Given the description of an element on the screen output the (x, y) to click on. 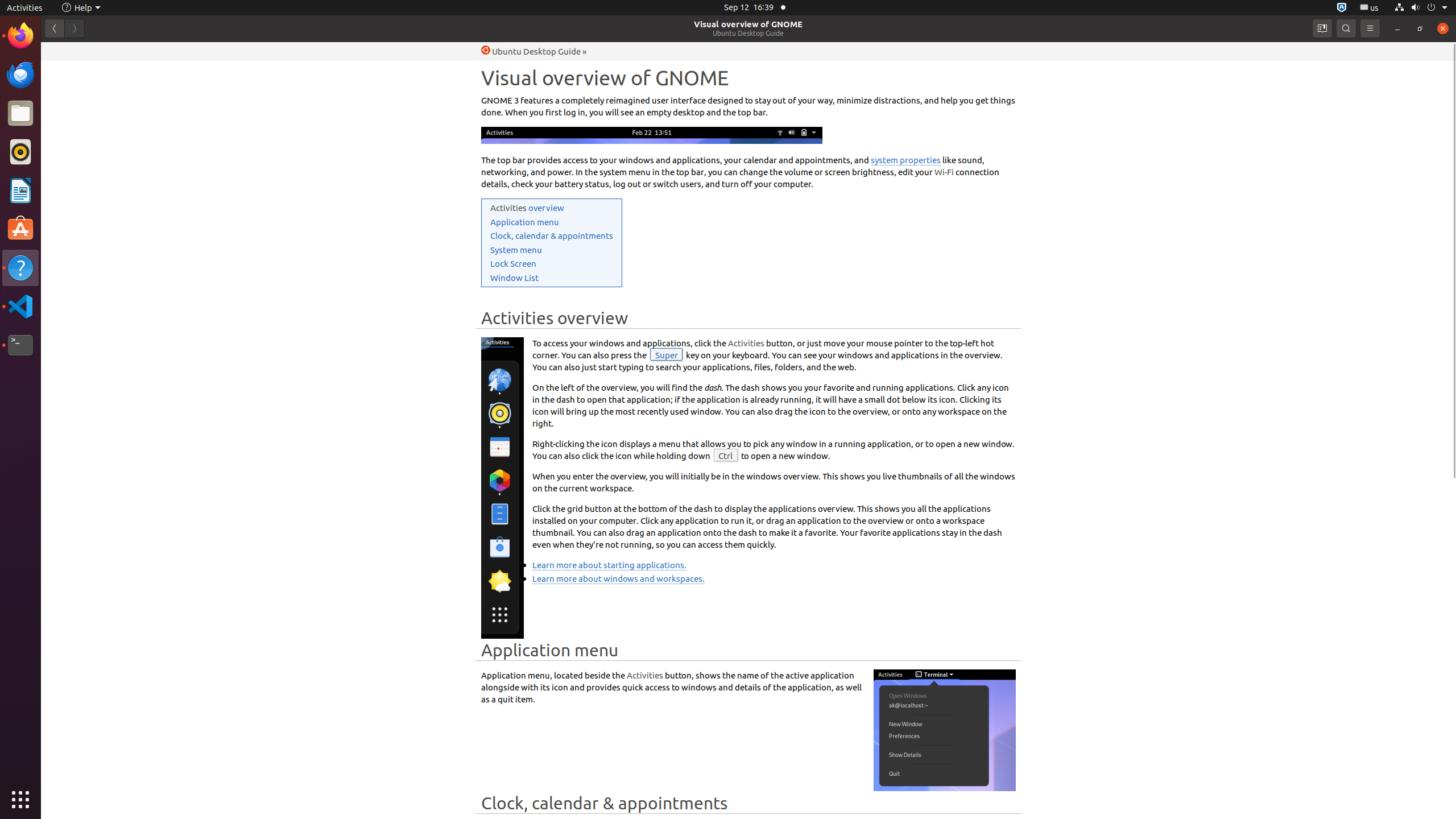
system properties Element type: link (905, 159)
Restore Element type: push-button (1419, 27)
Close Element type: push-button (1442, 27)
Clock, calendar & appointments Element type: link (551, 235)
